Given the description of an element on the screen output the (x, y) to click on. 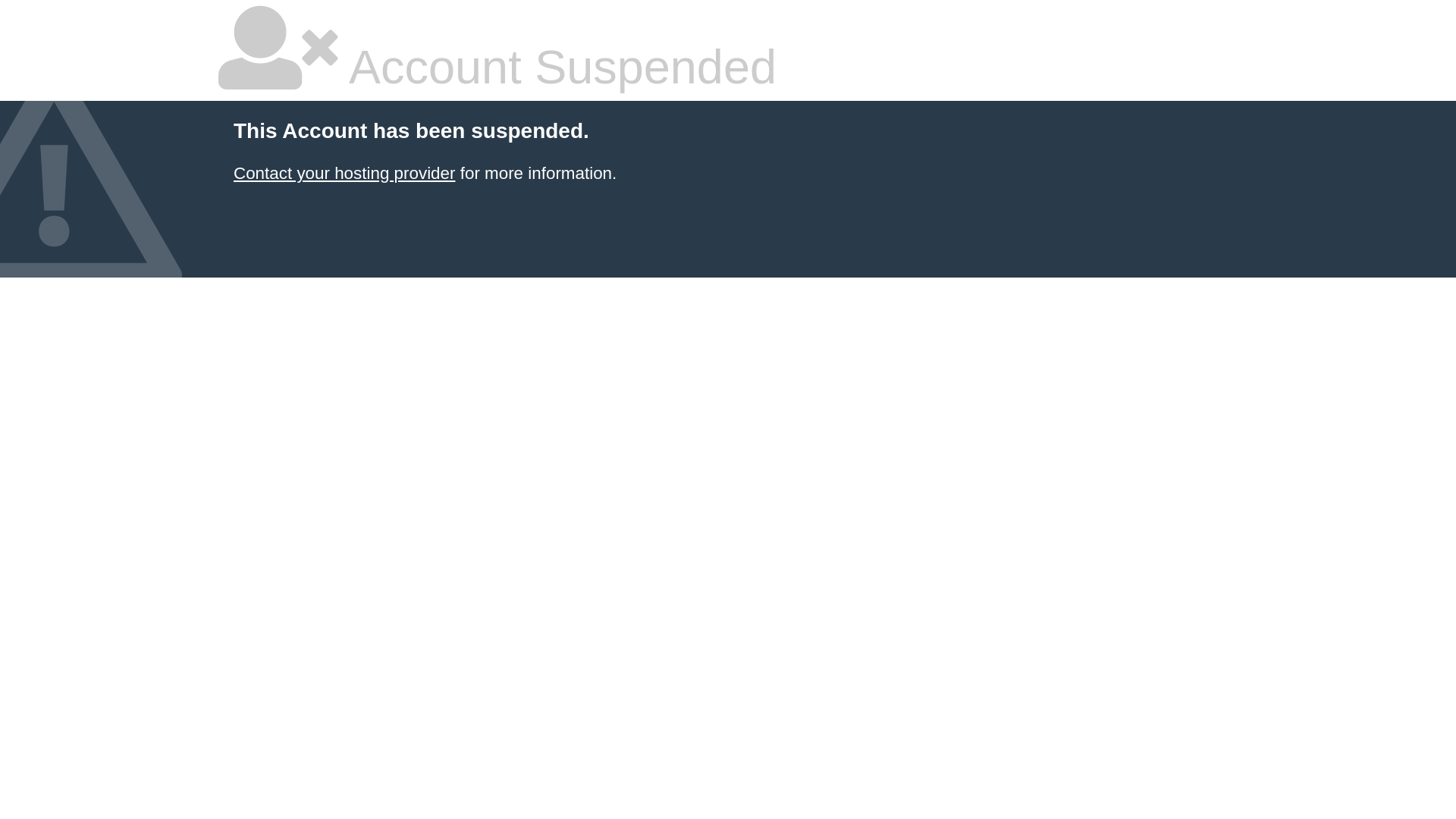
Contact your hosting provider Element type: text (344, 172)
